Given the description of an element on the screen output the (x, y) to click on. 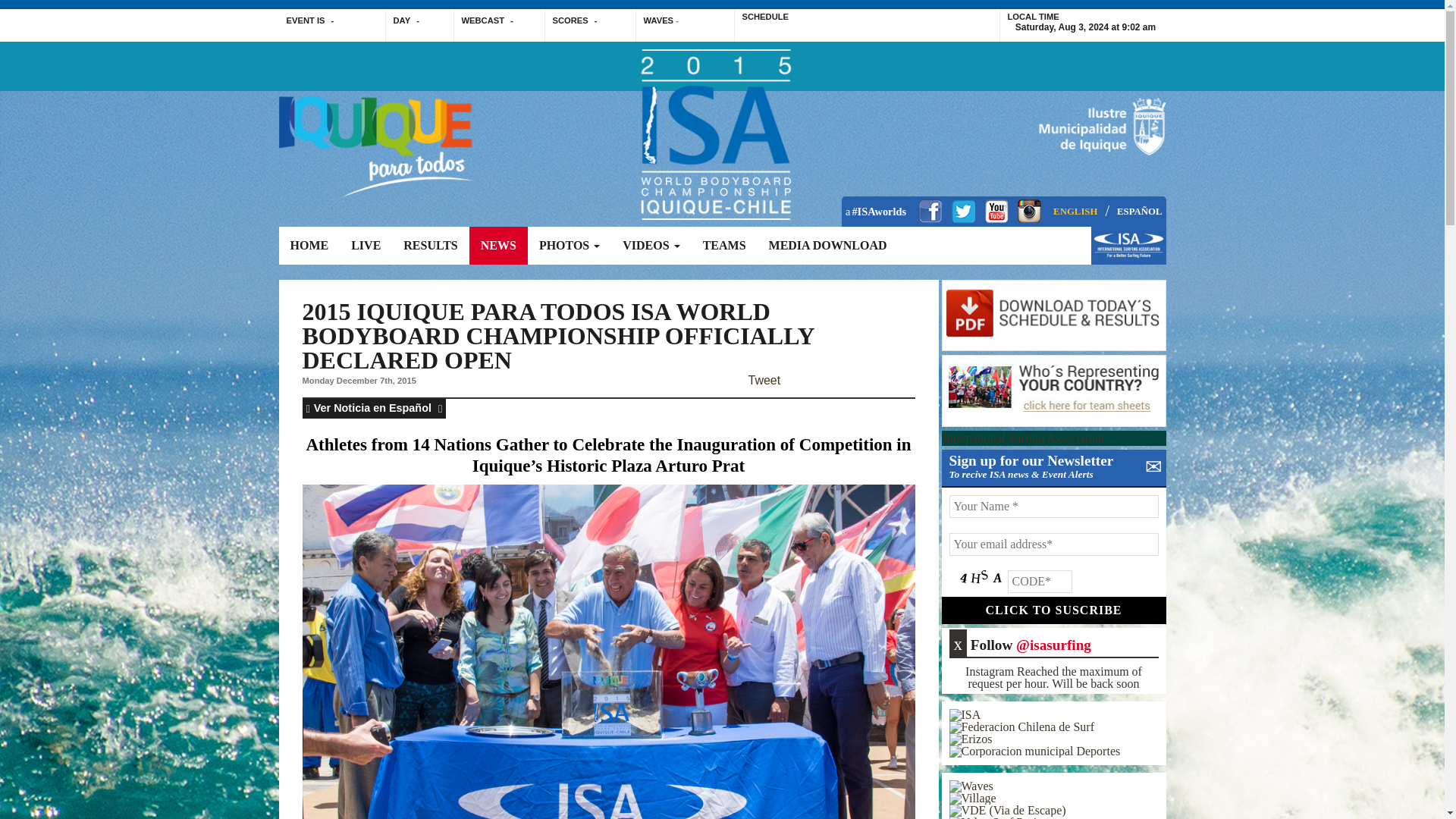
RESULTS (429, 245)
NEWS (497, 245)
LIVE (365, 245)
MENU ITEM (1128, 253)
VIDEOS (650, 245)
TEAMS (724, 245)
HOME (309, 245)
MEDIA DOWNLOAD (827, 245)
PHOTOS (569, 245)
ENGLISH (1074, 211)
Tweet (764, 380)
click to SUSCRIBE (1054, 610)
